Given the description of an element on the screen output the (x, y) to click on. 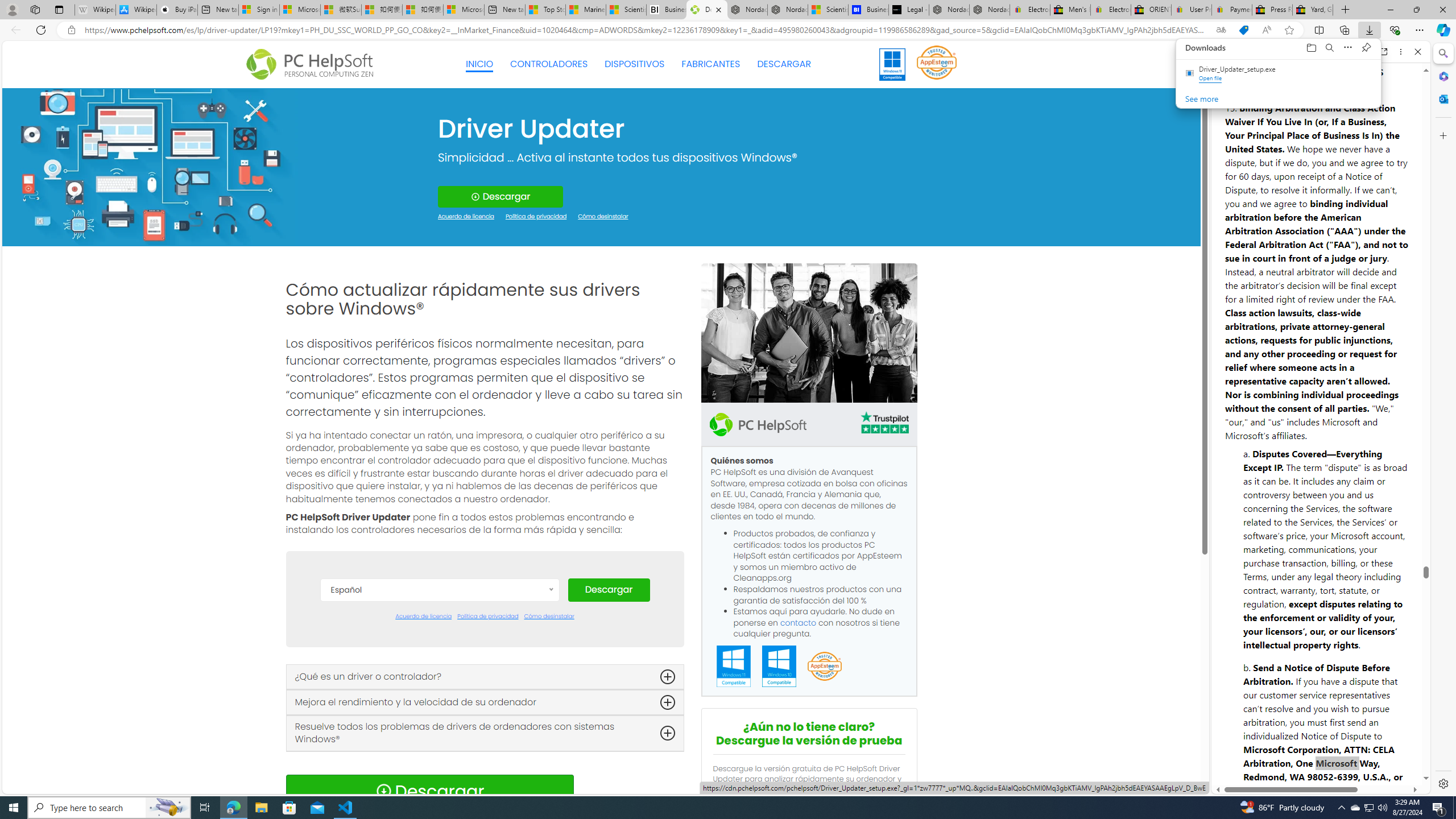
microsoft.com (1323, 51)
DESCARGAR (783, 64)
Payments Terms of Use | eBay.com (1231, 9)
TrustPilot (884, 424)
English (439, 695)
Italiano (439, 746)
Minimize Search pane (1442, 53)
Windows 11 (892, 64)
